Given the description of an element on the screen output the (x, y) to click on. 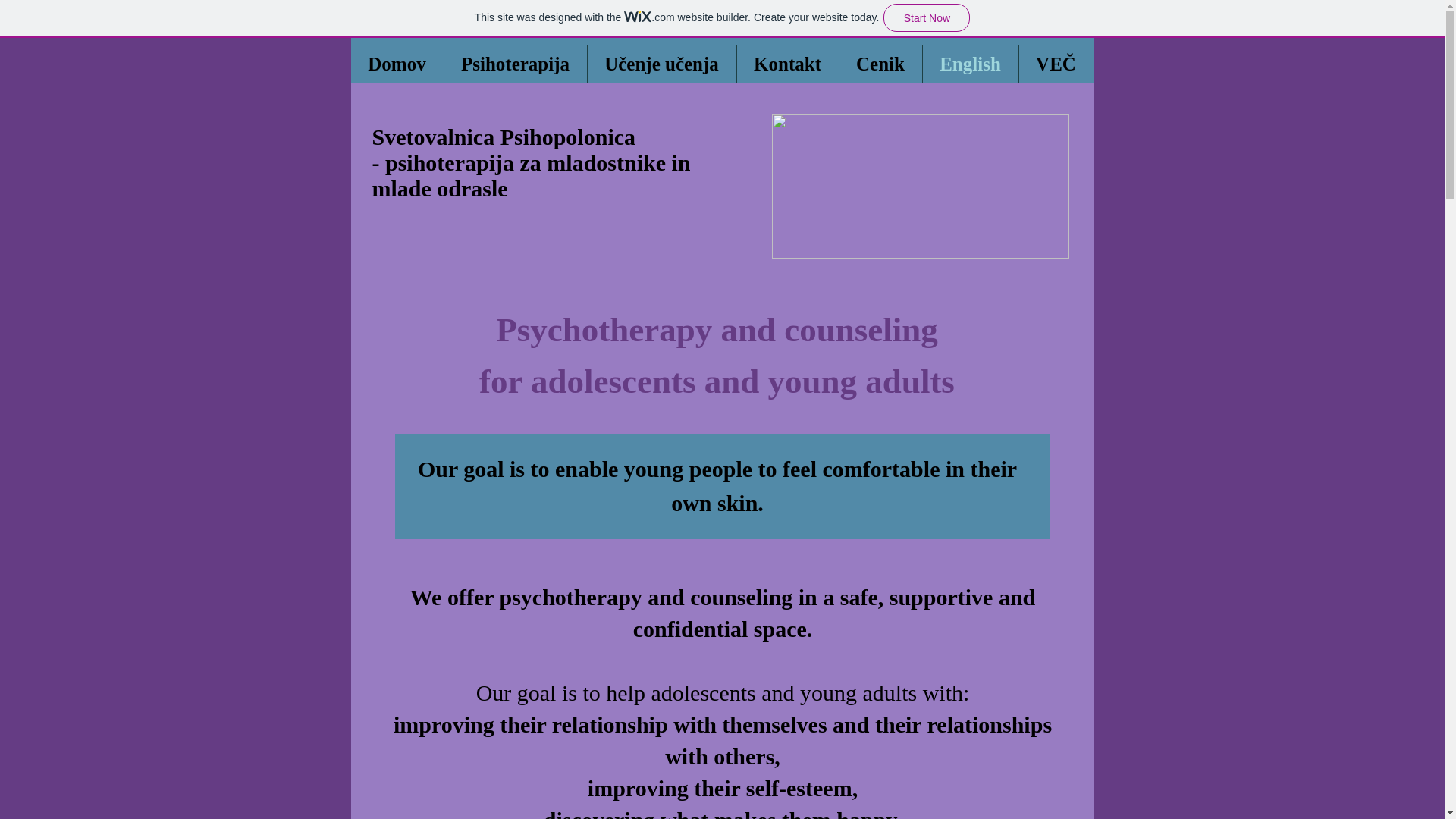
English (969, 64)
Cenik (879, 64)
Domov (396, 64)
Psihoterapija (515, 64)
Kontakt (787, 64)
